Given the description of an element on the screen output the (x, y) to click on. 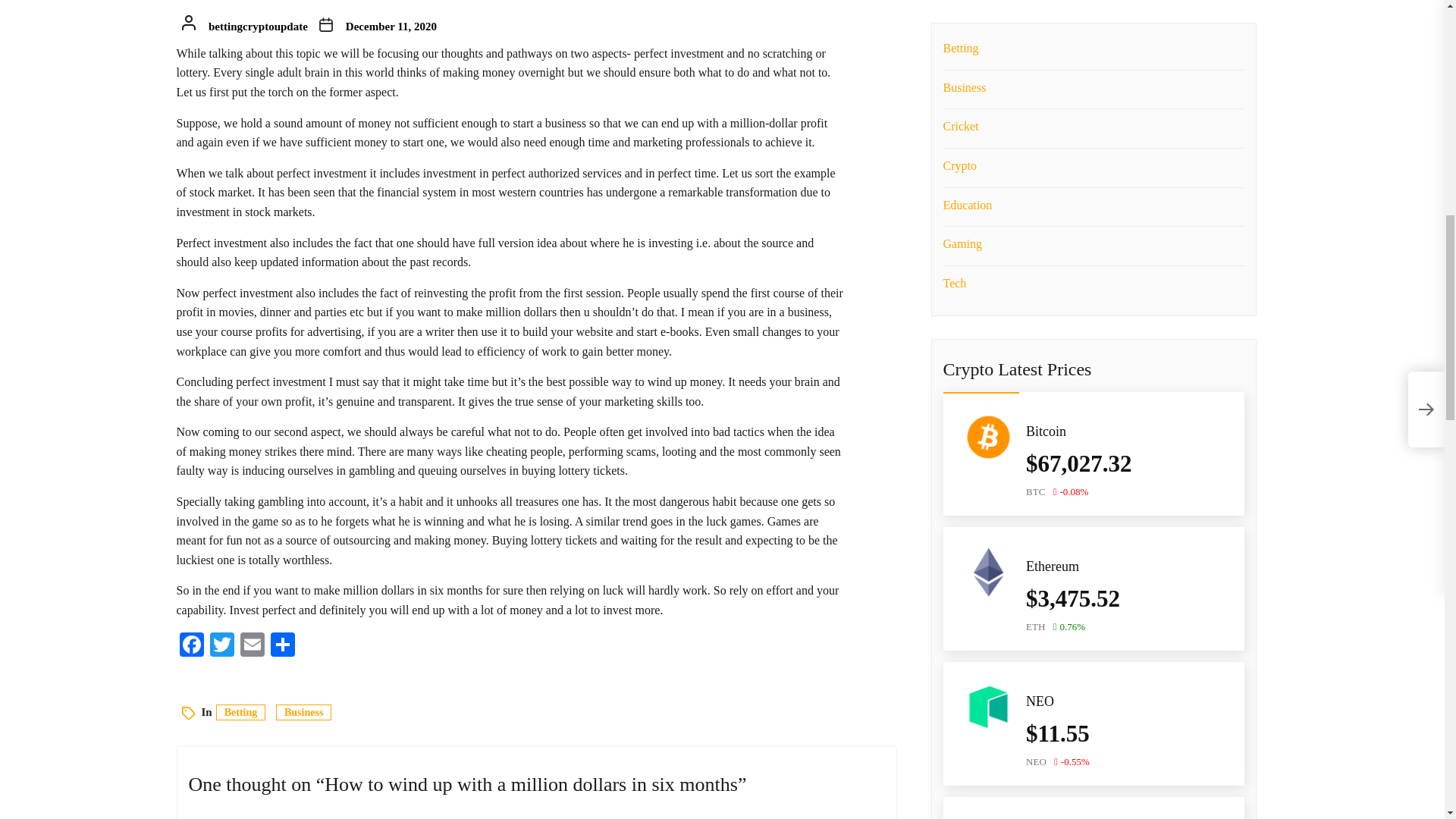
Twitter (220, 646)
Email (250, 646)
Facebook (191, 646)
